Given the description of an element on the screen output the (x, y) to click on. 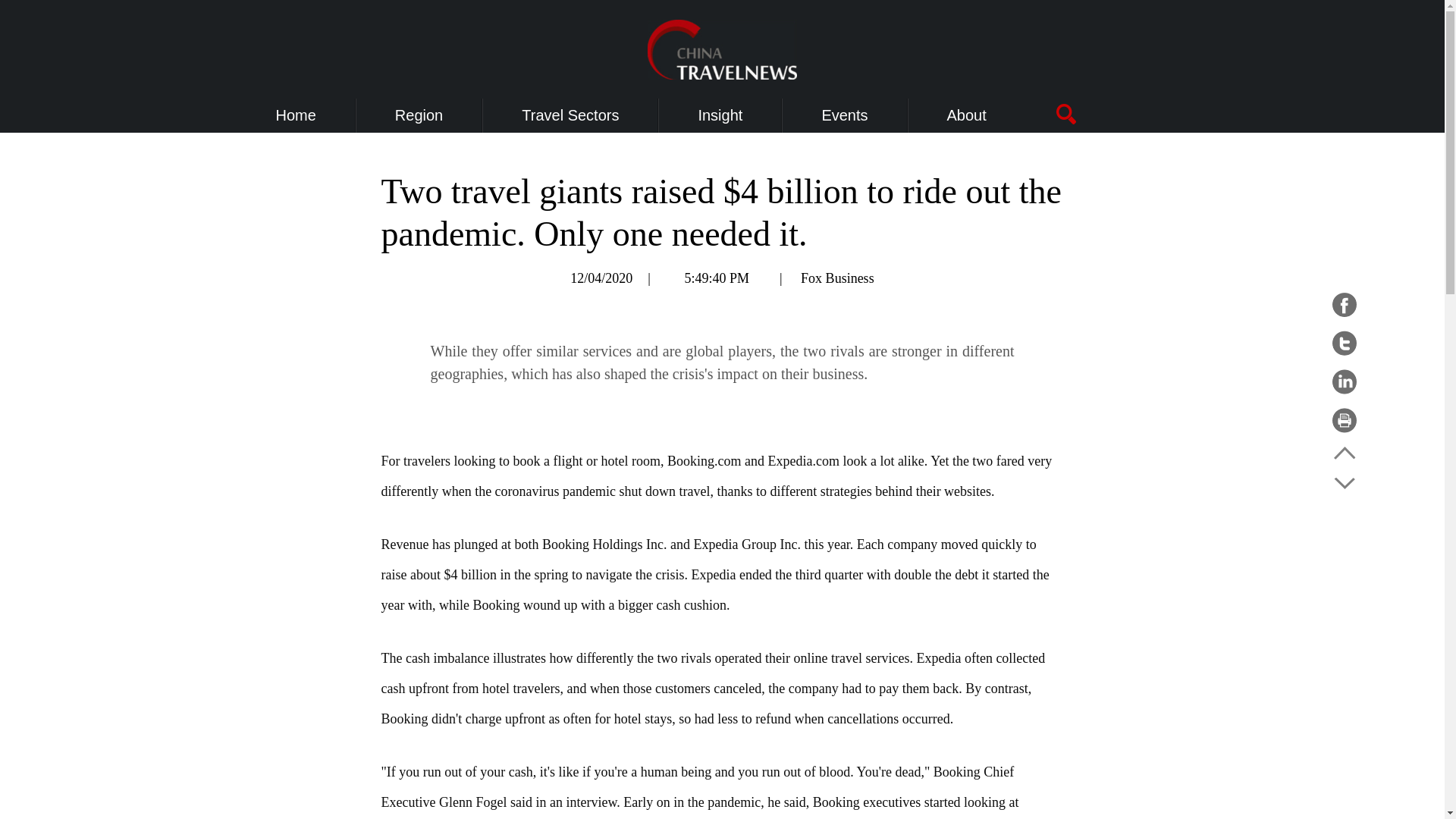
About (967, 115)
Events (844, 115)
Home (295, 115)
